Given the description of an element on the screen output the (x, y) to click on. 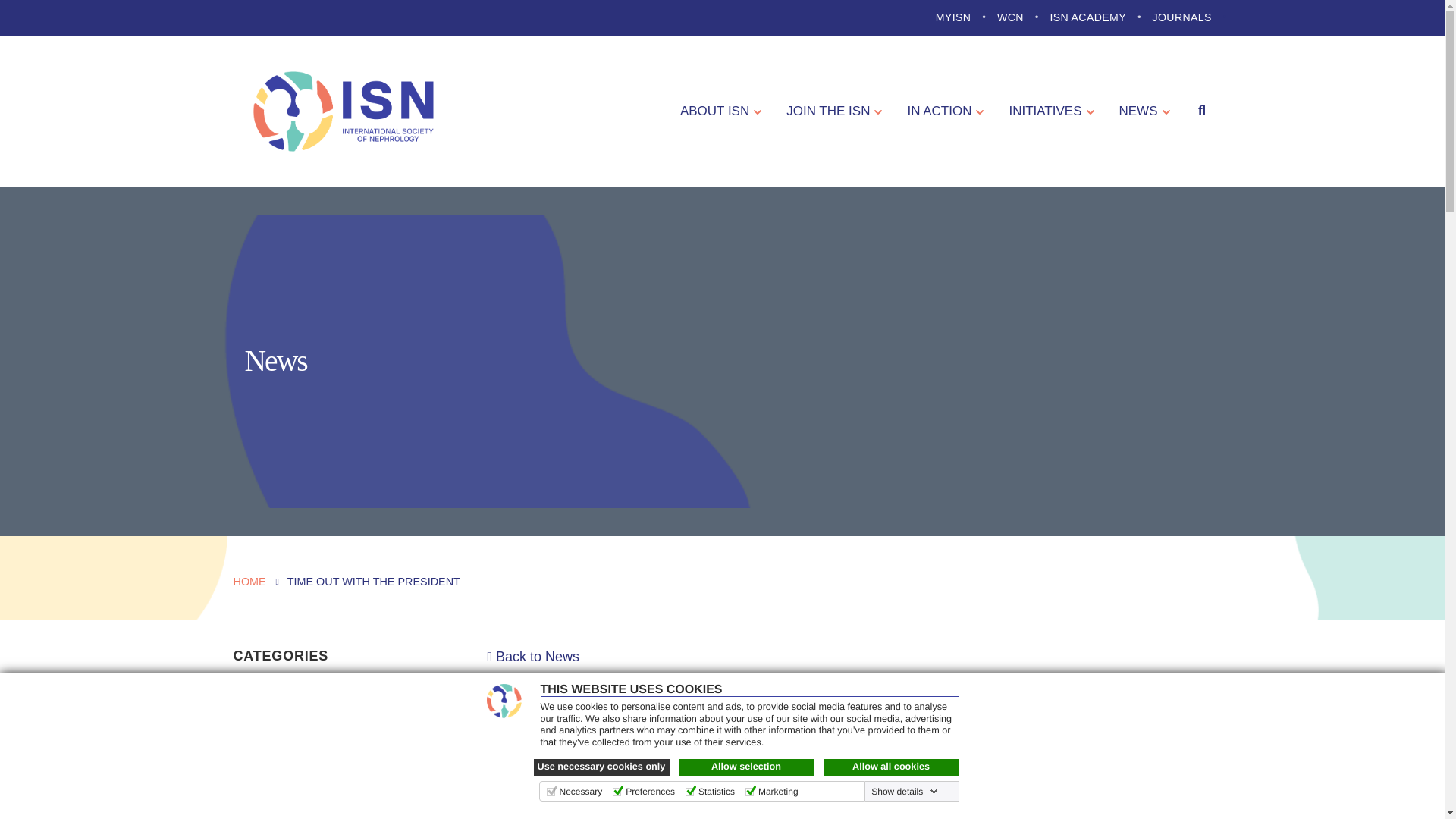
Allow all cookies (891, 767)
Allow selection (745, 767)
Show details (903, 791)
Use necessary cookies only (601, 767)
